Given the description of an element on the screen output the (x, y) to click on. 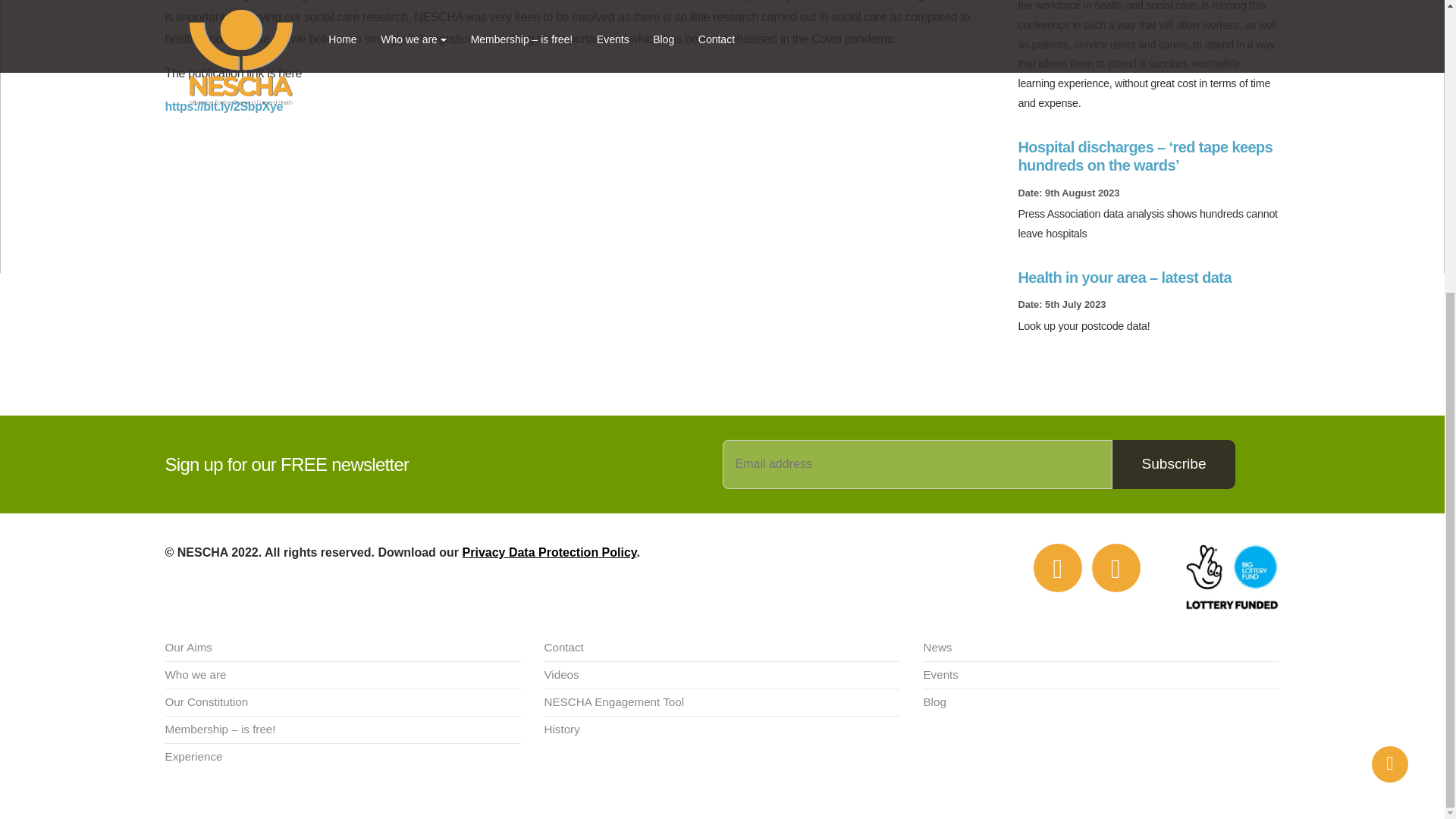
Our Constitution (343, 702)
Subscribe (1173, 463)
Subscribe (1173, 463)
History (721, 729)
News (1101, 647)
NESCHA Engagement Tool (721, 702)
Contact (721, 647)
Our Aims (343, 647)
Privacy Data Protection Policy (550, 552)
Videos (721, 675)
Experience (343, 756)
Who we are (343, 675)
